Given the description of an element on the screen output the (x, y) to click on. 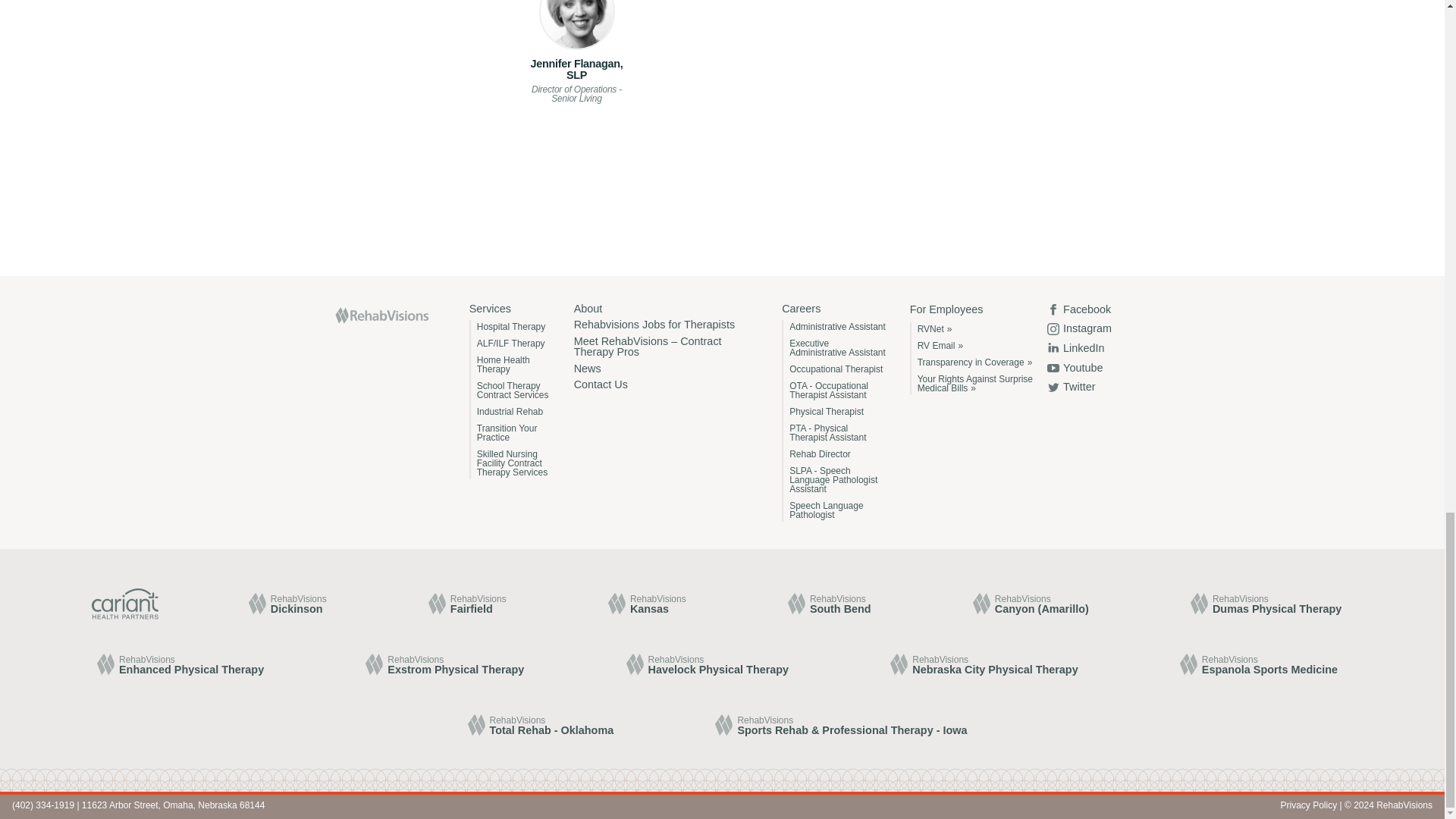
Hospital Therapy (512, 326)
RehabVisions (381, 315)
Home Health Therapy (512, 363)
Services (508, 308)
